Given the description of an element on the screen output the (x, y) to click on. 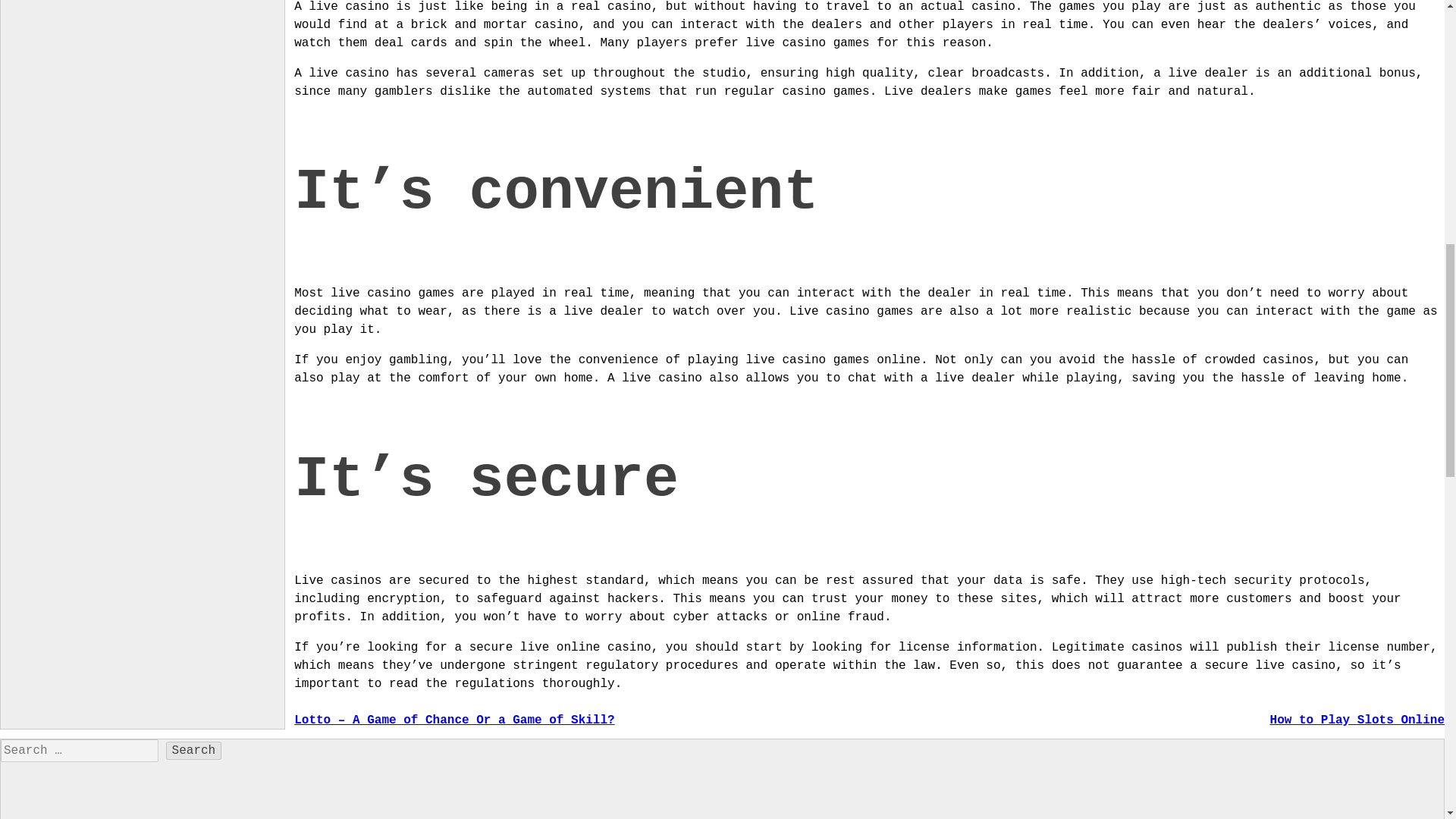
Search (193, 751)
Search (193, 751)
Search (193, 751)
